Given the description of an element on the screen output the (x, y) to click on. 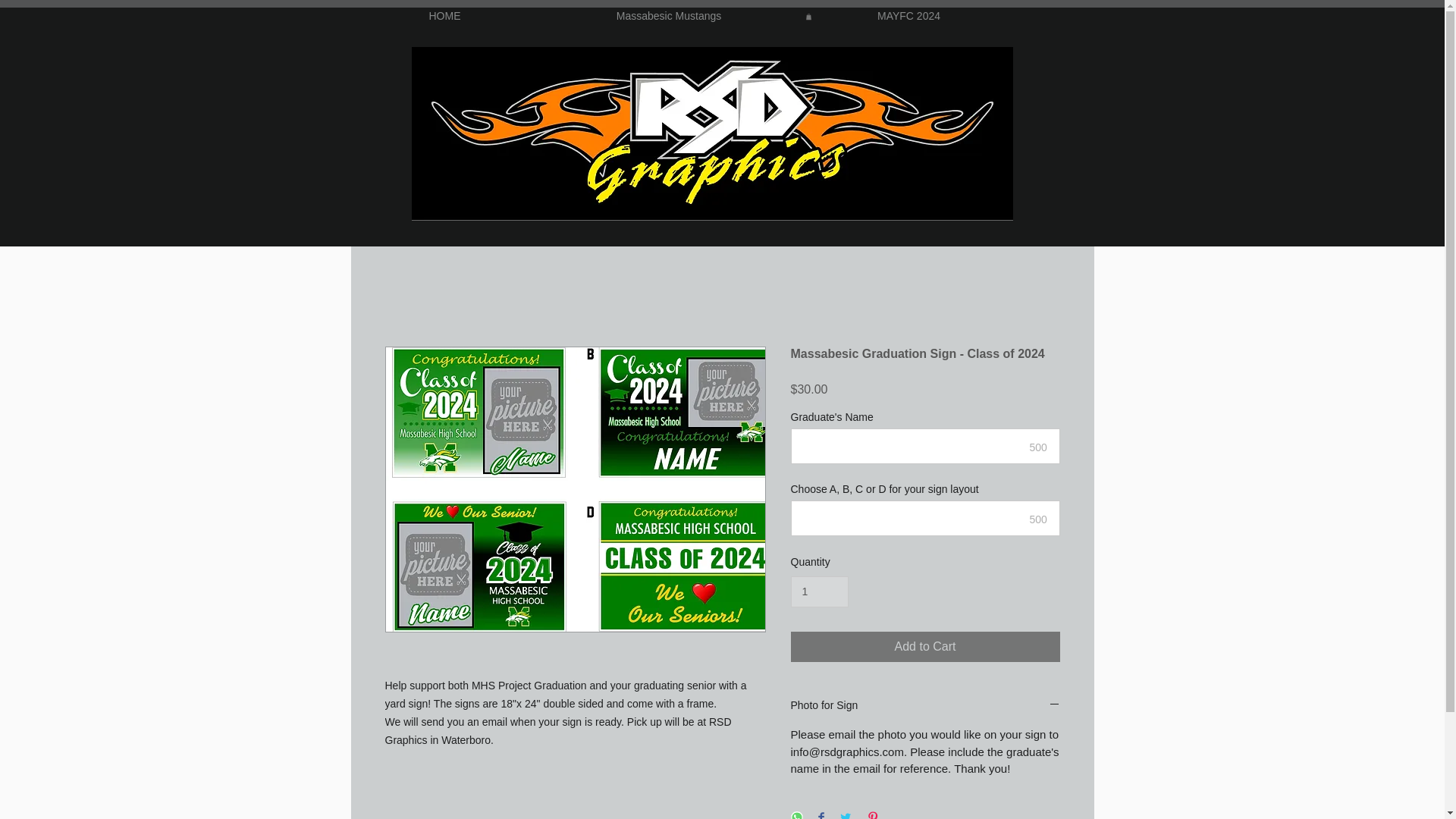
1 (818, 591)
MAYFC 2024 (908, 16)
Photo for Sign (924, 706)
HOME (445, 16)
Add to Cart (924, 646)
Massabesic Mustangs (668, 16)
